Given the description of an element on the screen output the (x, y) to click on. 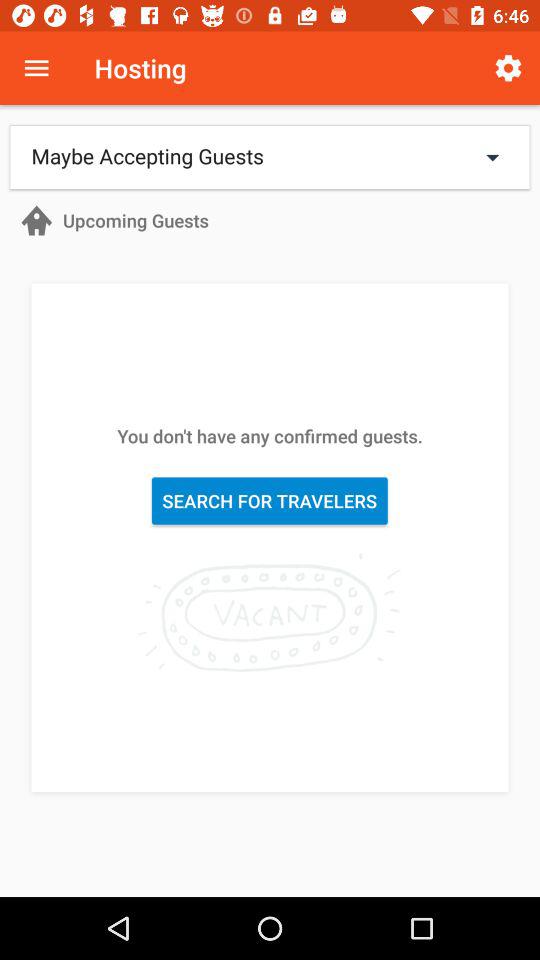
scroll until the search for travelers item (269, 500)
